Given the description of an element on the screen output the (x, y) to click on. 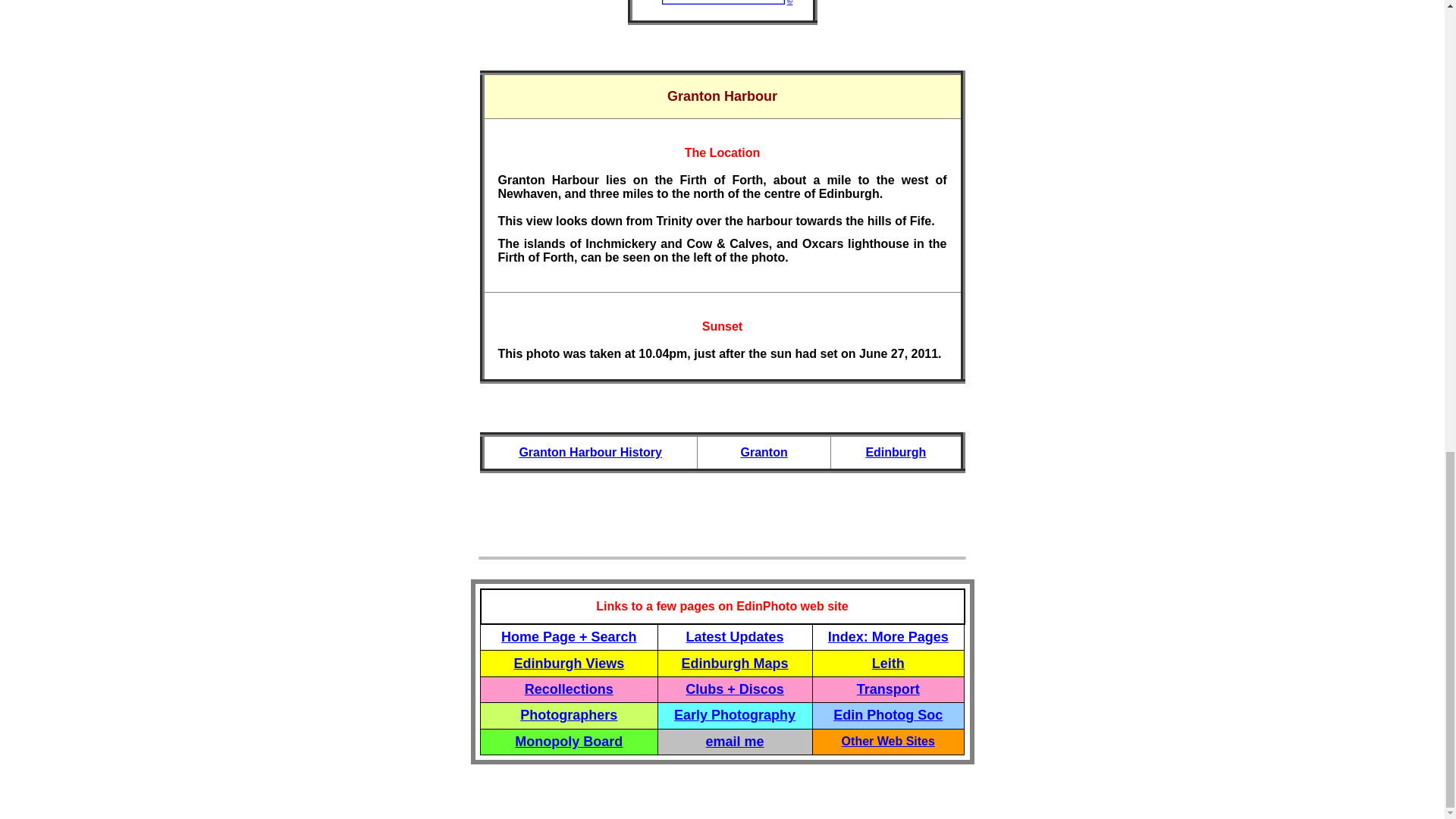
Edinburgh (895, 451)
Leith (888, 663)
Edinburgh Views (568, 663)
Transport (888, 688)
Recollections (568, 688)
Latest Updates (734, 636)
Granton (763, 451)
Granton Harbour History (589, 451)
Index: More Pages (888, 636)
Edinburgh Maps (735, 663)
